Given the description of an element on the screen output the (x, y) to click on. 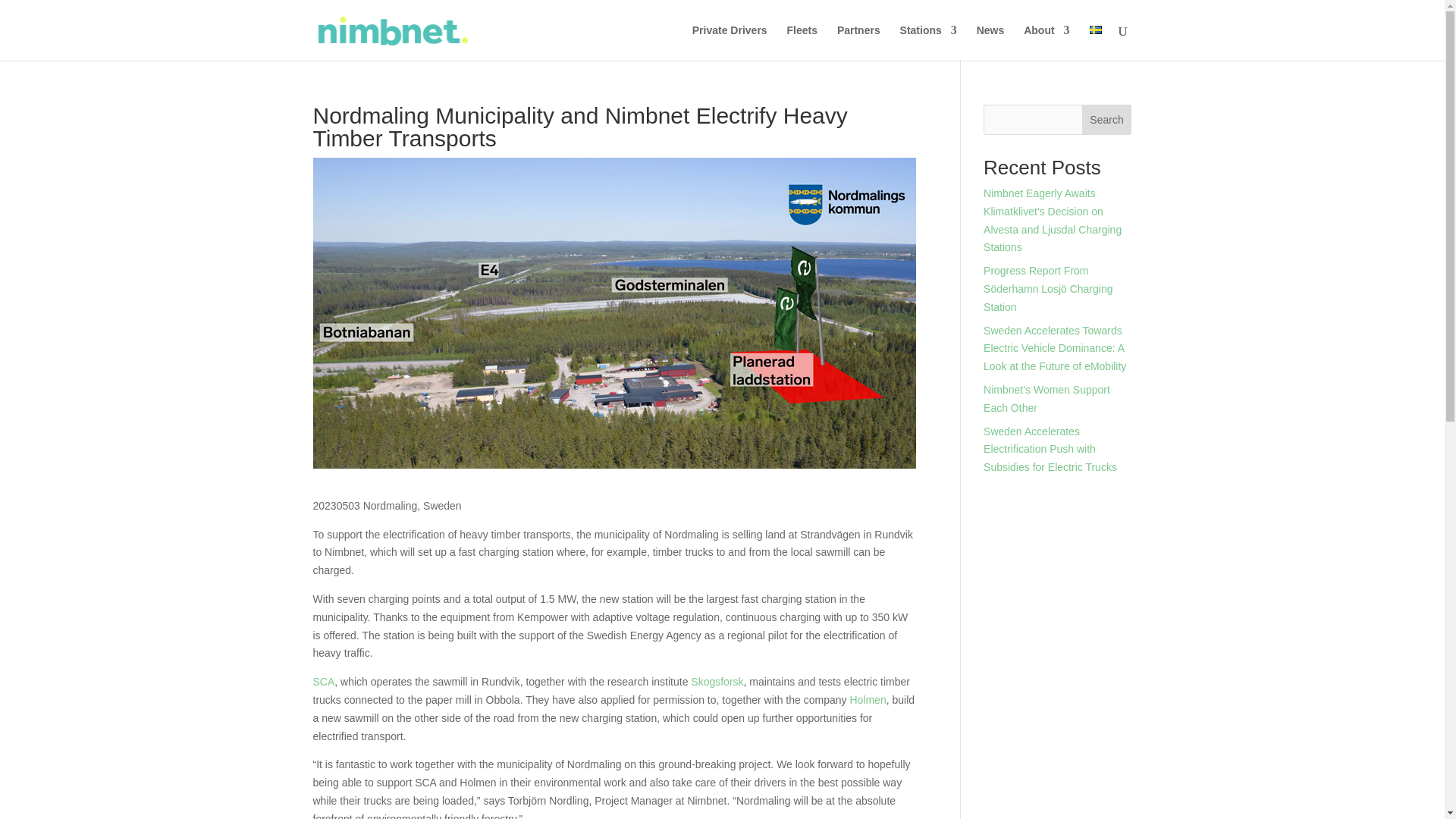
About (1045, 42)
Partners (858, 42)
SCA (323, 681)
Search (1106, 119)
Stations (927, 42)
Private Drivers (730, 42)
Skogsforsk (716, 681)
Holmen (866, 699)
